Given the description of an element on the screen output the (x, y) to click on. 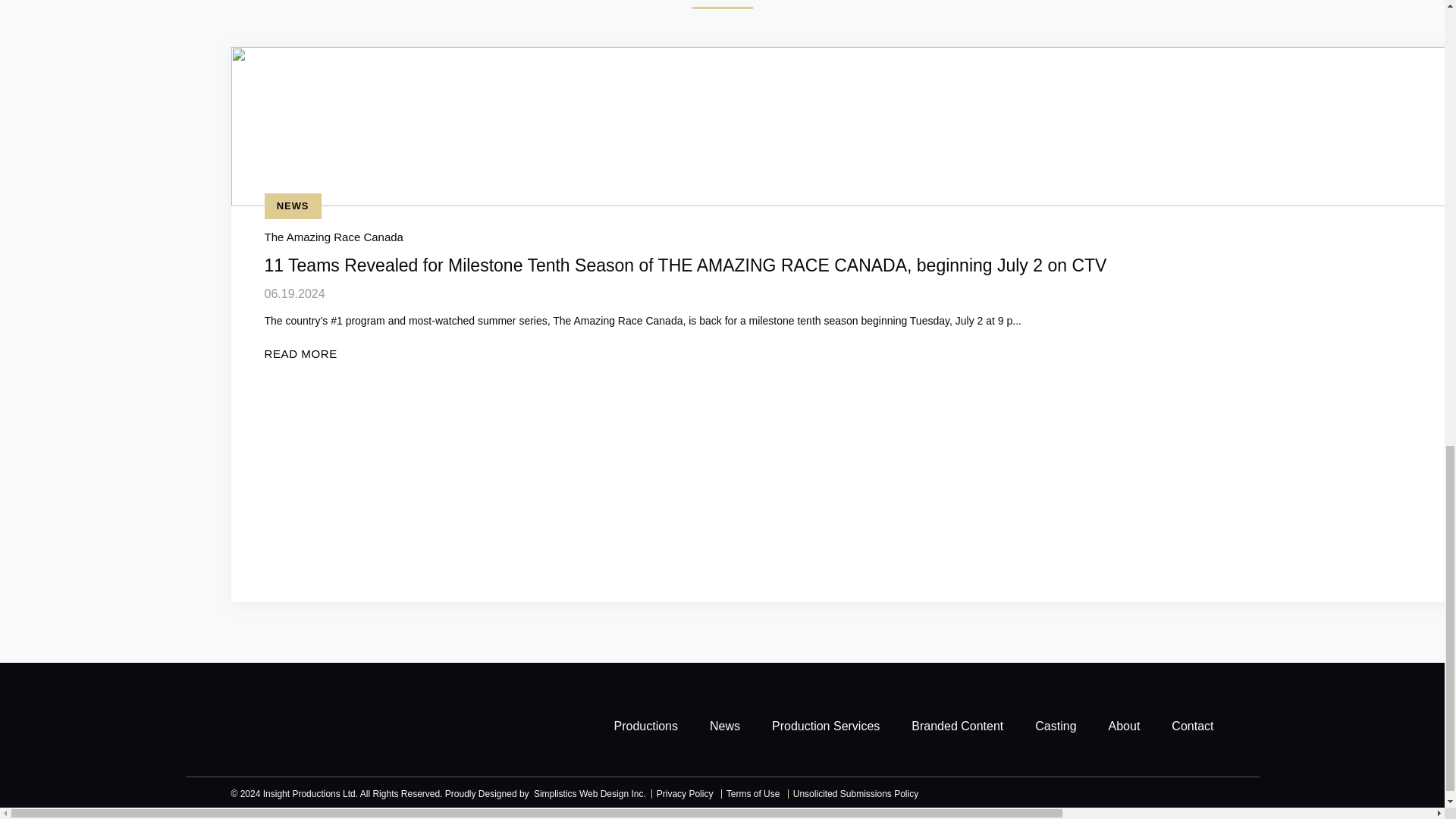
Branded Content (957, 725)
Simplistics Web Design Inc (588, 793)
NEWS (291, 206)
Unsolicited Submissions Policy (854, 793)
Contact (1192, 725)
About (1124, 725)
Production Services (825, 725)
Home (288, 725)
Casting (1055, 725)
Terms of Use (751, 793)
The Amazing Race Canada (333, 236)
Productions (646, 725)
Privacy Policy (683, 793)
